Given the description of an element on the screen output the (x, y) to click on. 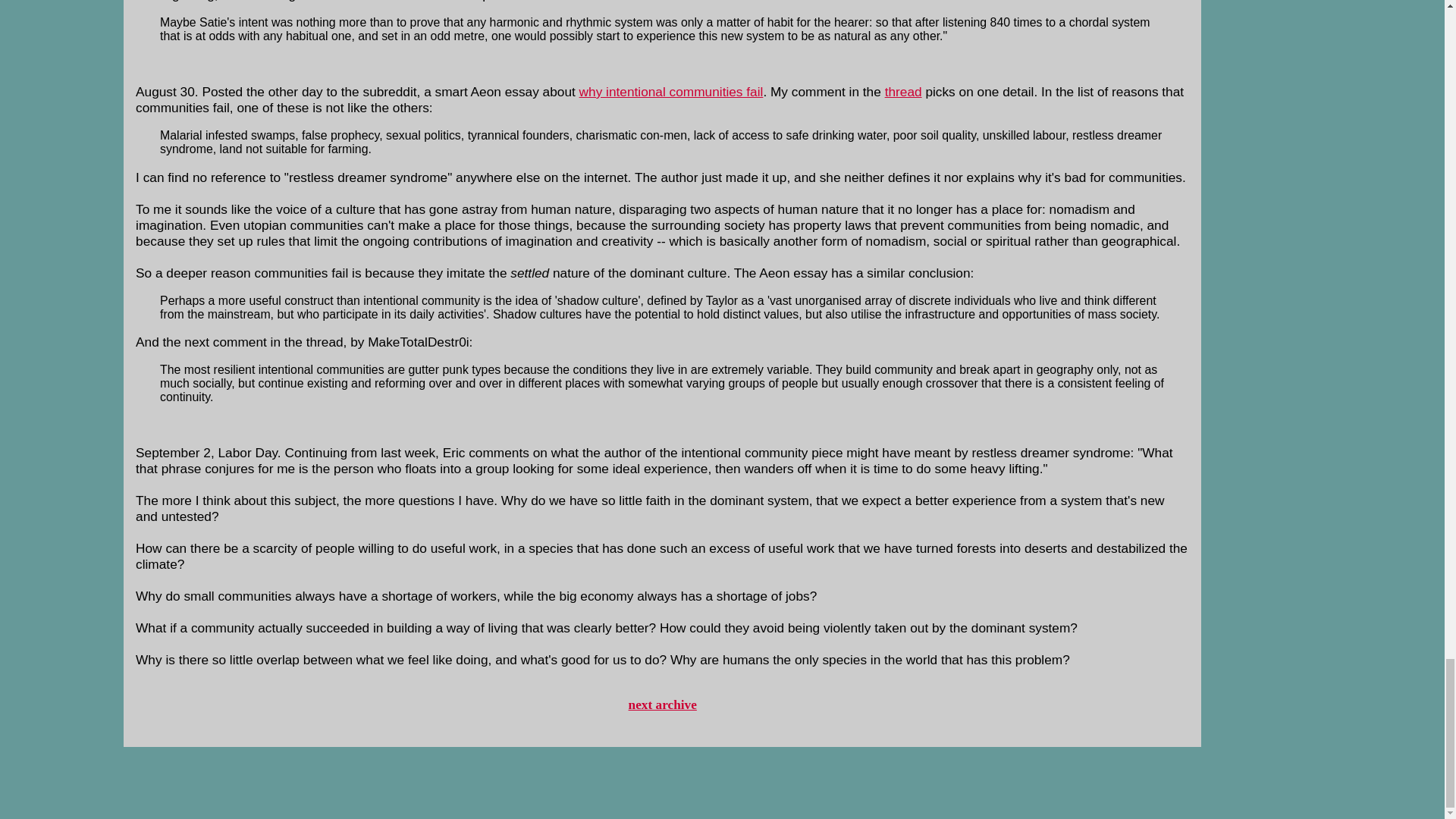
thread (903, 91)
why intentional communities fail (670, 91)
